Given the description of an element on the screen output the (x, y) to click on. 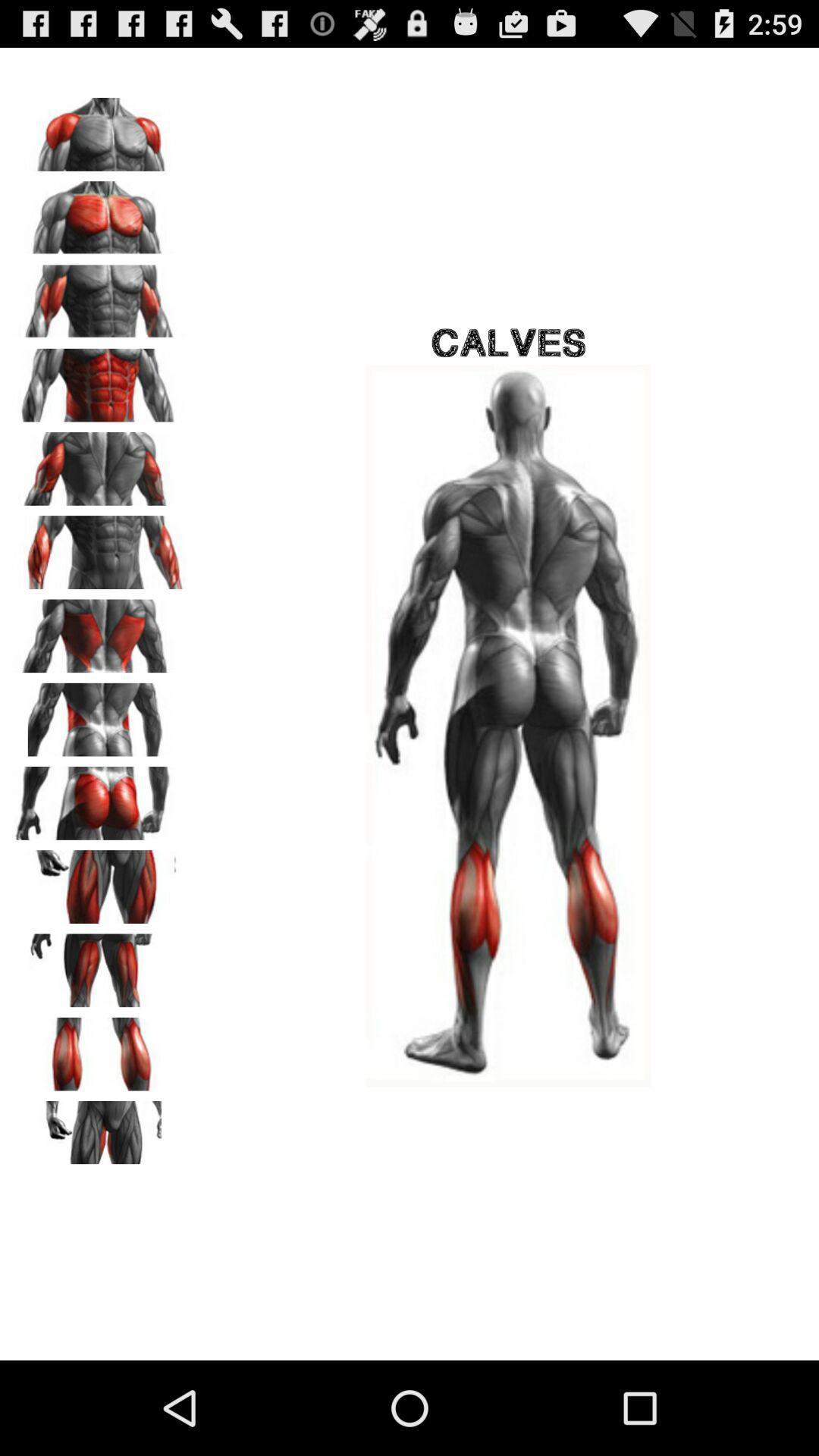
view this image (99, 881)
